Given the description of an element on the screen output the (x, y) to click on. 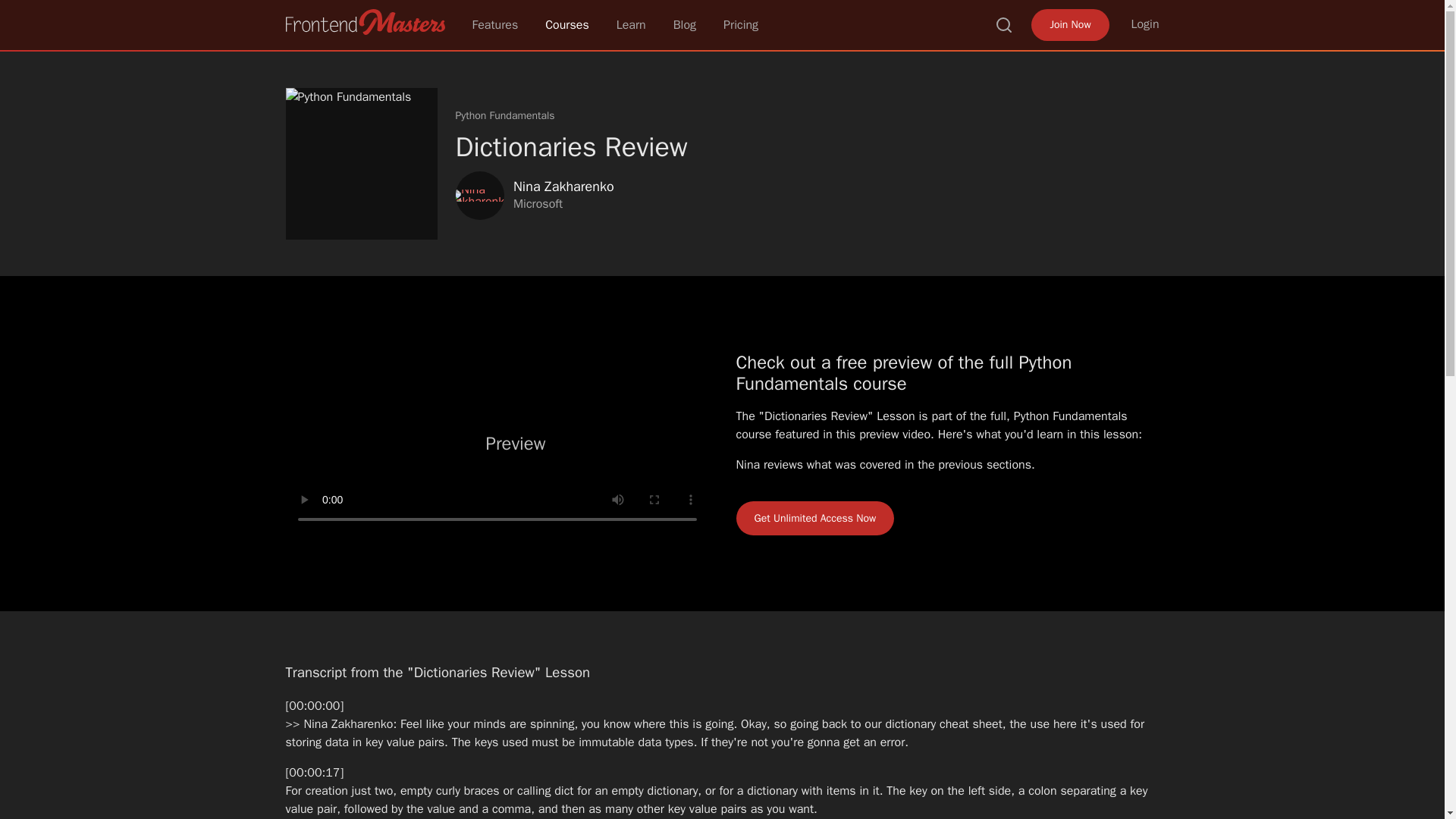
Courses (566, 24)
Blog (683, 24)
Nina Zakharenko (562, 186)
Nina Zakharenko (479, 195)
Join Now (1069, 24)
Features (494, 24)
Login (1144, 24)
FrontendMasters (364, 22)
Python Fundamentals (504, 115)
Pricing (740, 24)
Learn (630, 24)
Get Unlimited Access Now (814, 518)
Search (1003, 24)
